Given the description of an element on the screen output the (x, y) to click on. 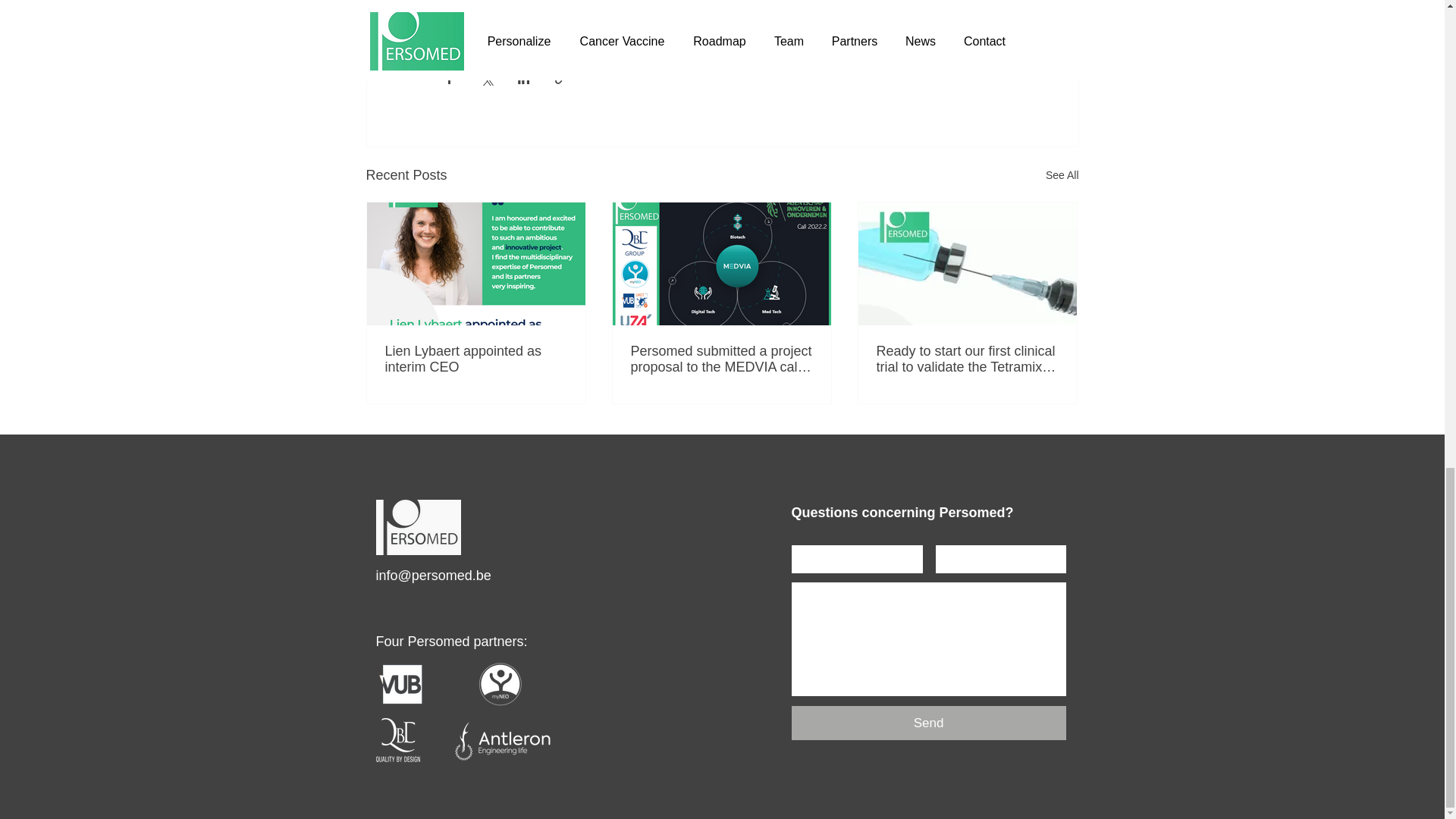
See All (1061, 175)
Lien Lybaert appointed as interim CEO (476, 359)
Send (928, 722)
